Given the description of an element on the screen output the (x, y) to click on. 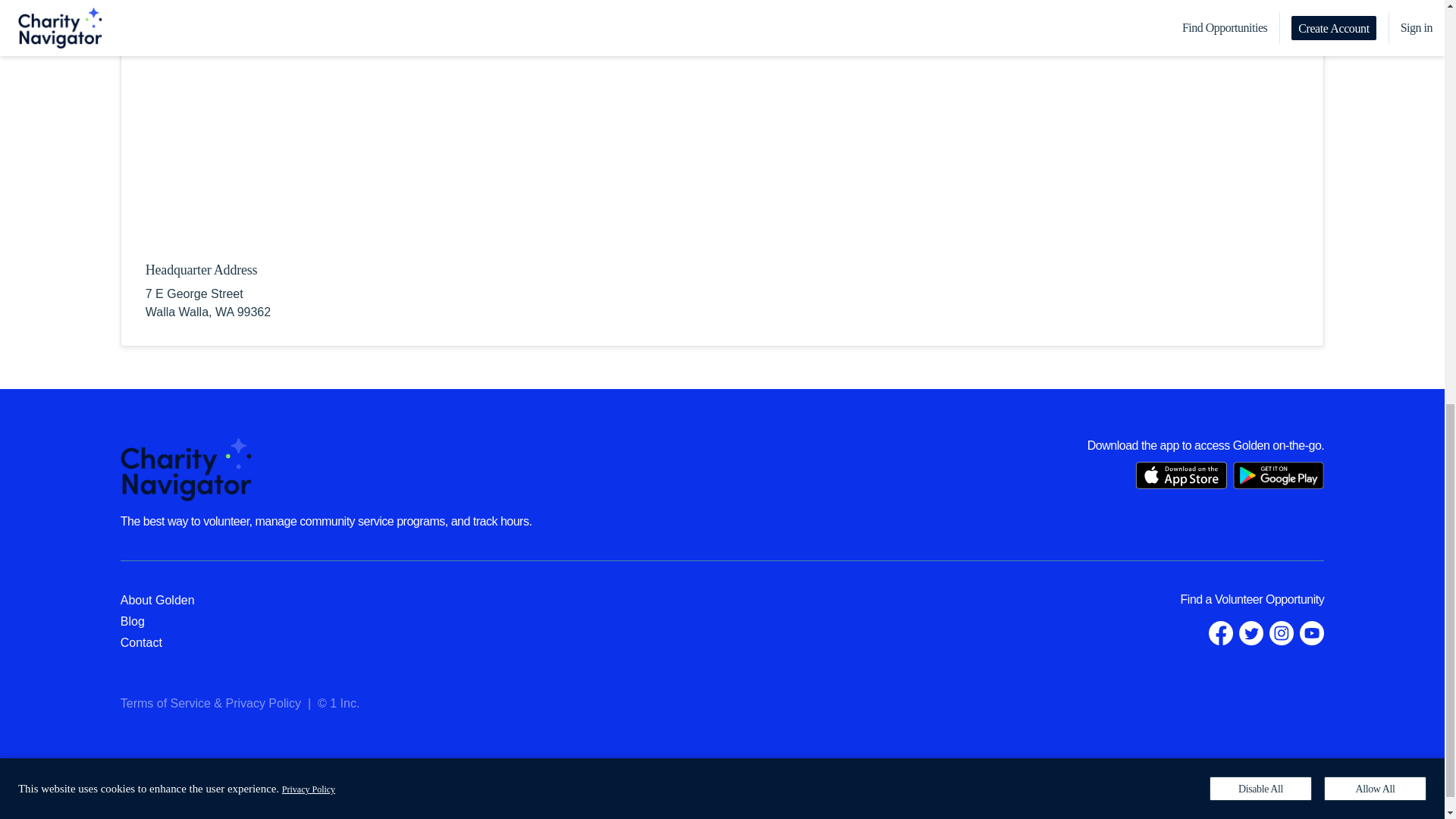
Play Store Link (1278, 475)
Visit Us On Instagram (1281, 632)
About Golden (157, 599)
Terms of Service (165, 703)
Contact (140, 642)
Blog (132, 621)
AppStore Link (1181, 475)
Volunteer Opportunity (1268, 599)
Volunteer Opportunity (1268, 599)
Visit Us On YouTube (1311, 632)
Privacy Policy (263, 703)
Contact (140, 642)
About Golden (157, 599)
Visit Us On Twitter (1251, 632)
Blog (132, 621)
